Given the description of an element on the screen output the (x, y) to click on. 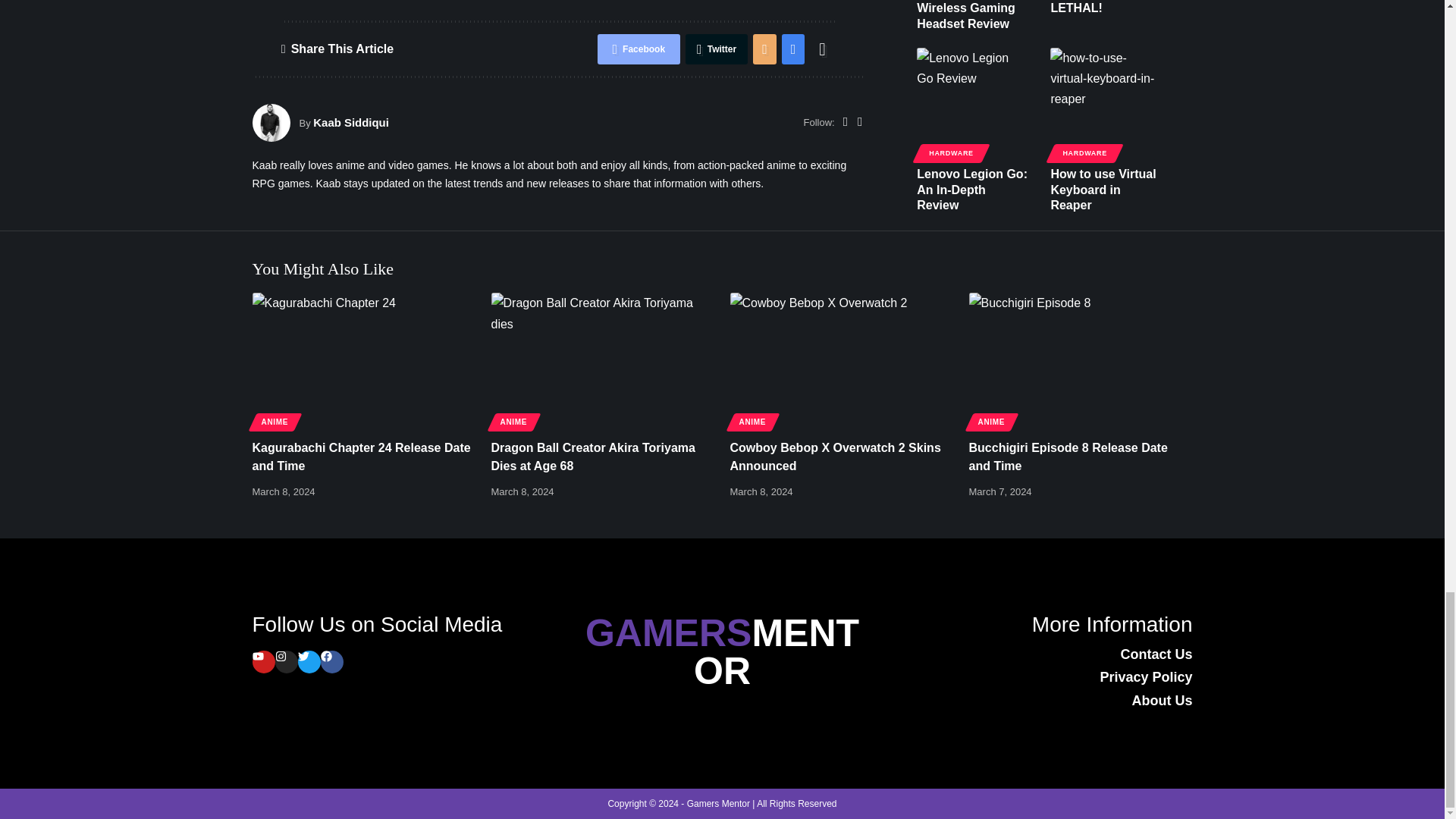
Dragon Ball Creator Akira Toriyama Dies at Age 68 (603, 359)
Cowboy Bebop X Overwatch 2 Skins Announced (841, 359)
Bucchigiri Episode 8 Release Date and Time (1080, 359)
Kagurabachi Chapter 24 Release Date and Time (363, 359)
